Given the description of an element on the screen output the (x, y) to click on. 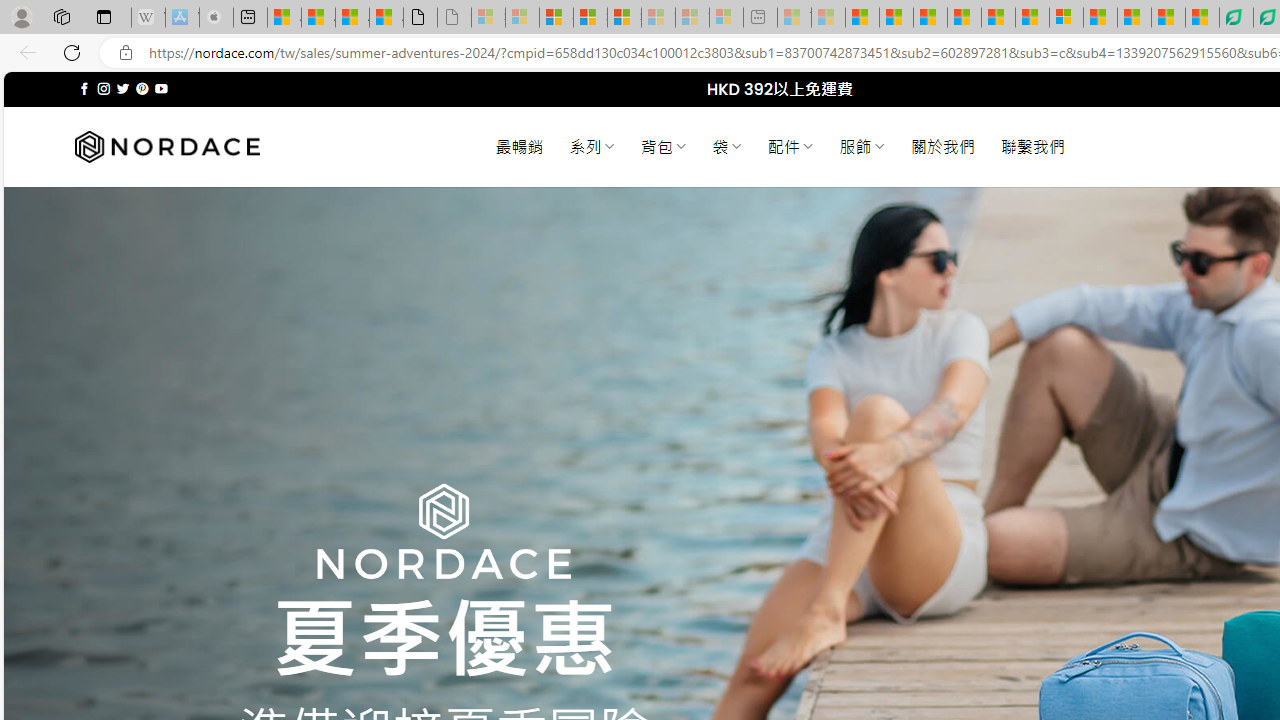
US Heat Deaths Soared To Record High Last Year (1100, 17)
Tab actions menu (104, 16)
Wikipedia - Sleeping (148, 17)
Sign in to your Microsoft account - Sleeping (488, 17)
Foo BAR | Trusted Community Engagement and Contributions (1032, 17)
View site information (125, 53)
Aberdeen, Hong Kong SAR severe weather | Microsoft Weather (386, 17)
